Given the description of an element on the screen output the (x, y) to click on. 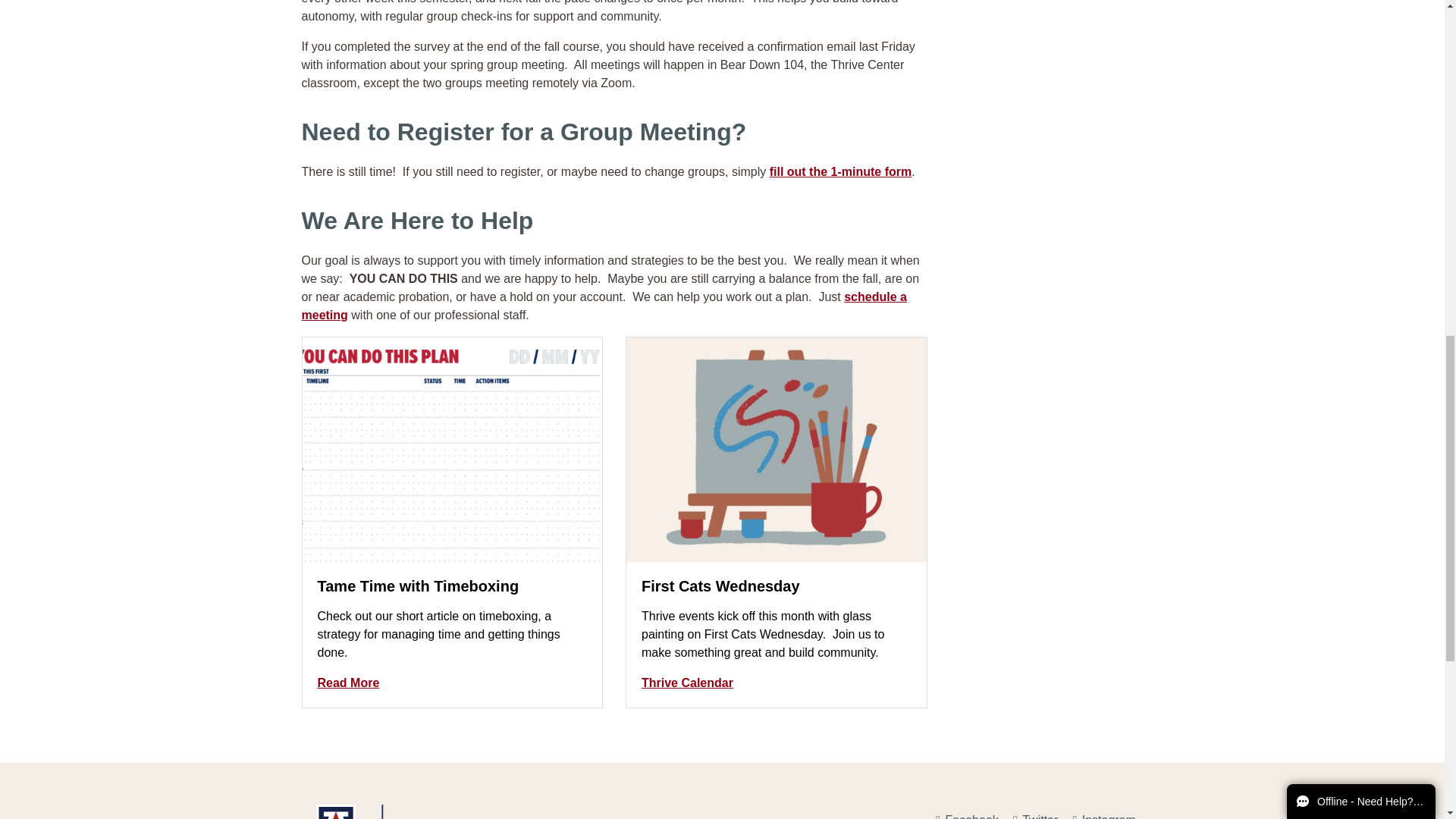
fill out the 1-minute form (841, 171)
schedule a meeting (604, 305)
